Given the description of an element on the screen output the (x, y) to click on. 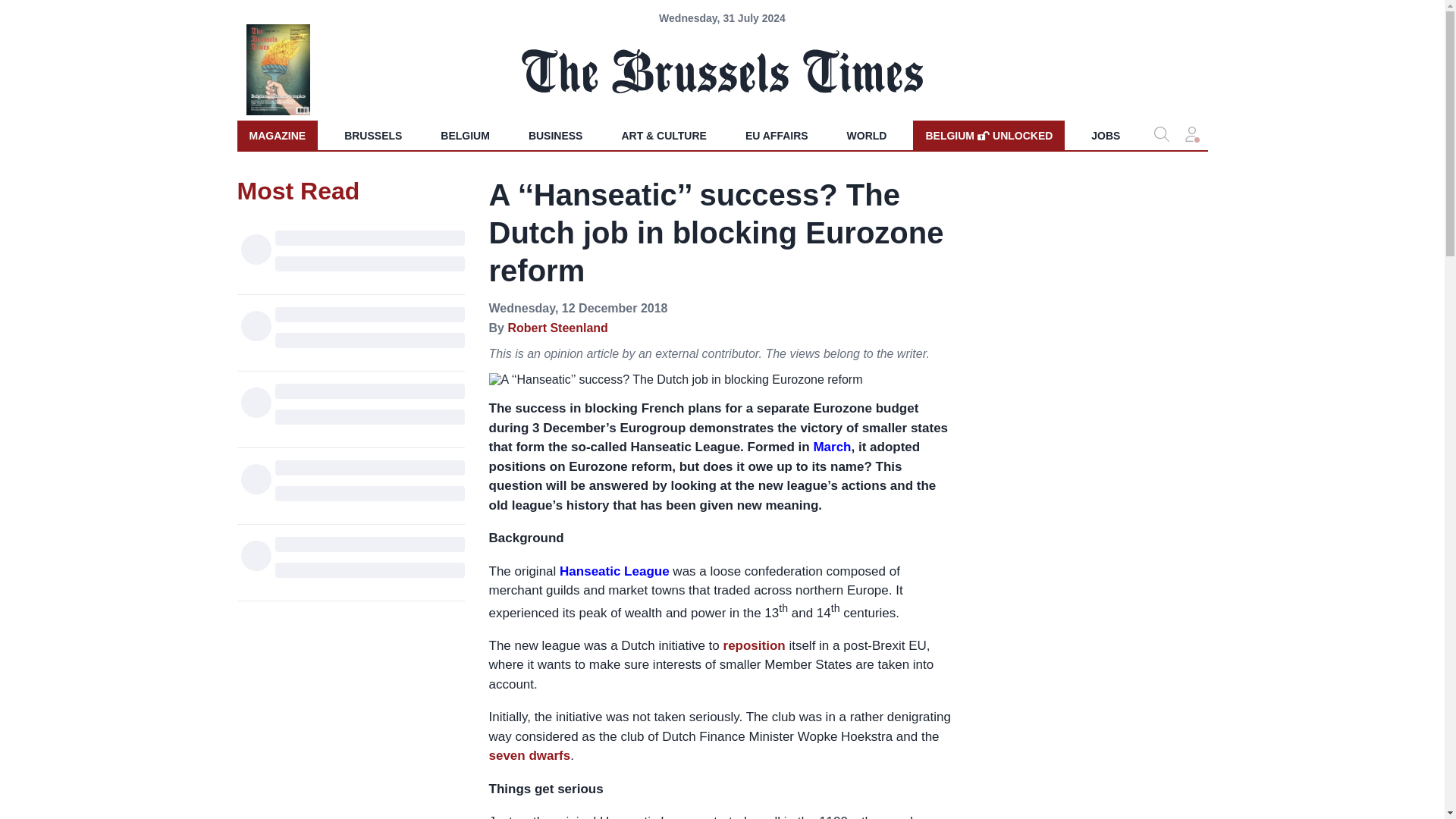
BRUSSELS (372, 135)
BELGIUM (465, 135)
reposition (754, 645)
seven dwarfs (528, 755)
BUSINESS (555, 135)
JOBS (1105, 135)
WORLD (988, 135)
Robert Steenland (866, 135)
Hanseatic League (556, 327)
EU AFFAIRS (614, 571)
MAGAZINE (777, 135)
March (276, 135)
